Given the description of an element on the screen output the (x, y) to click on. 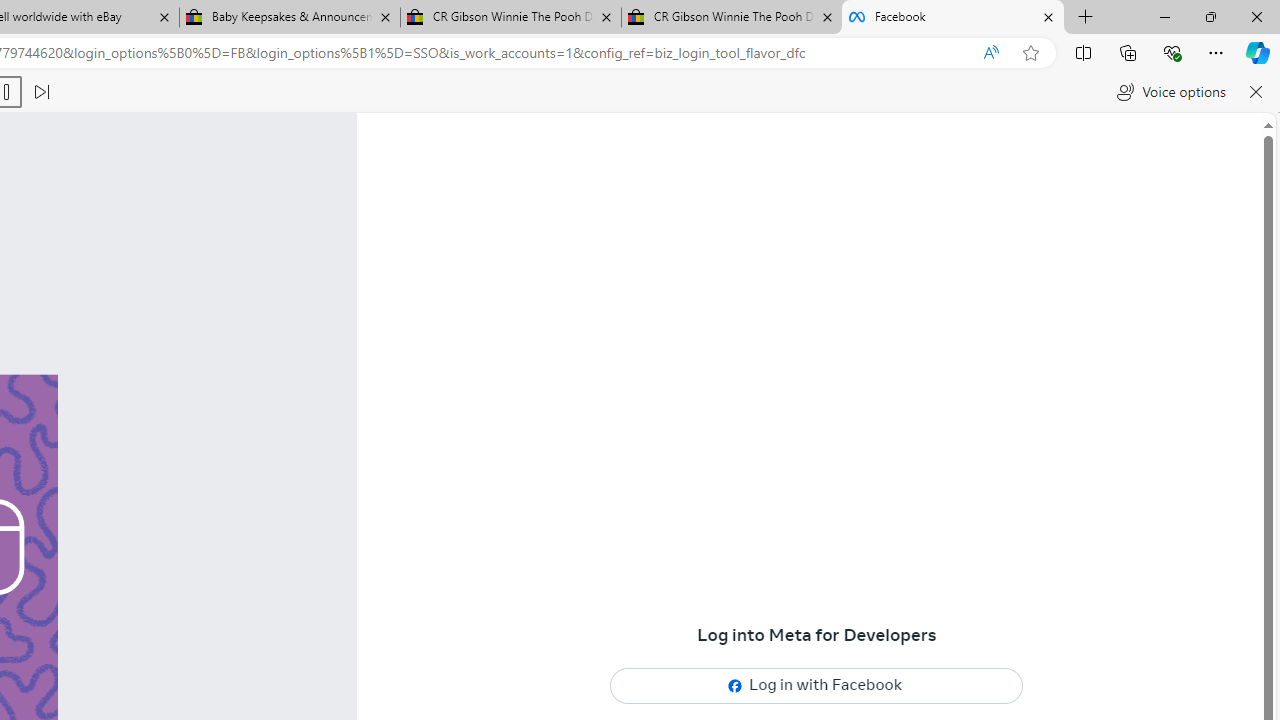
Read next paragraph (40, 92)
Voice options (1170, 92)
Facebook (953, 17)
Baby Keepsakes & Announcements for sale | eBay (290, 17)
Close read aloud (1255, 92)
